Given the description of an element on the screen output the (x, y) to click on. 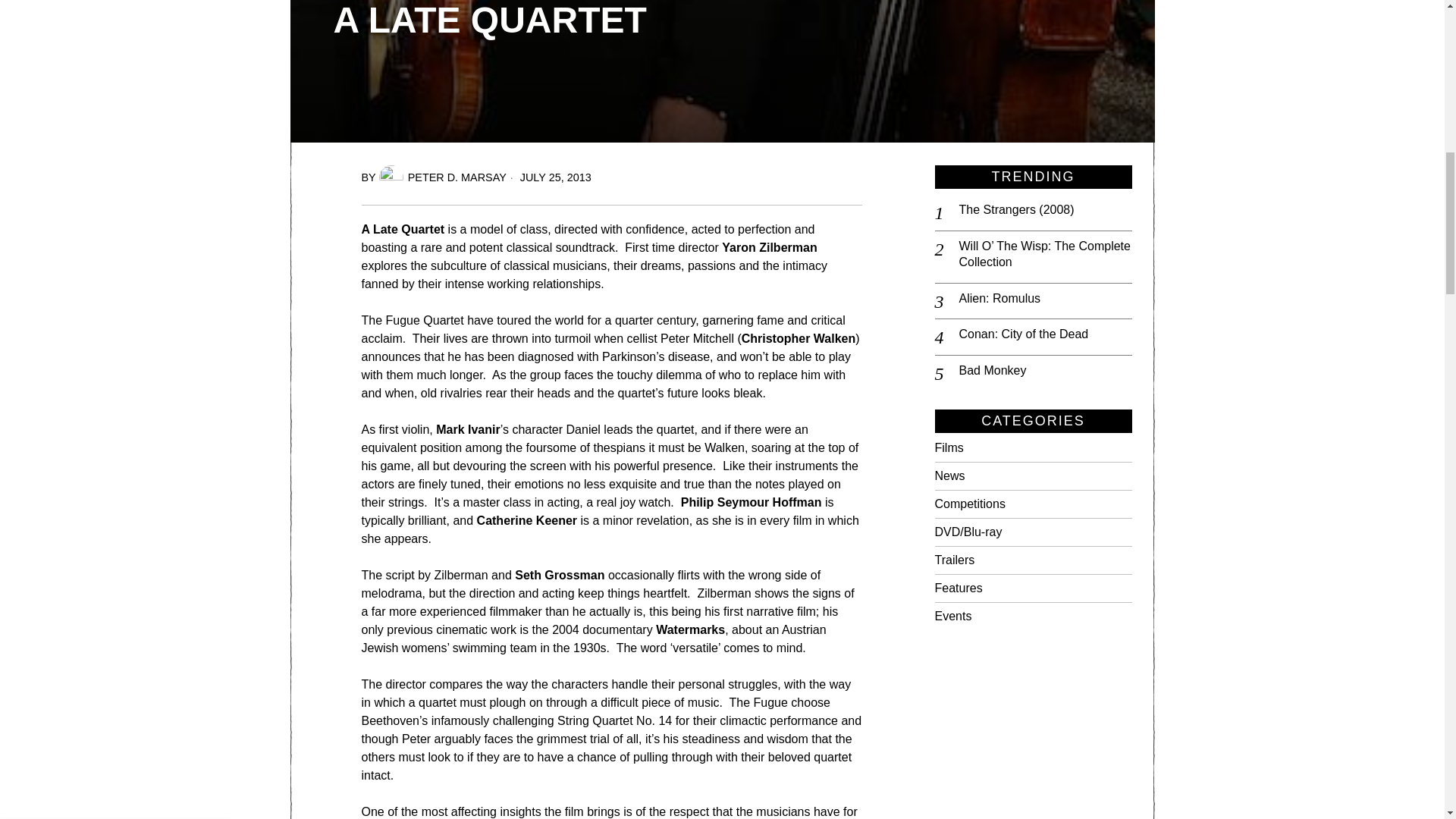
25 Jul, 2013 11:35:56 (548, 177)
Events (952, 615)
PETER D. MARSAY (1396, 22)
Alien: Romulus (442, 177)
Conan: City of the Dead (1044, 299)
